Given the description of an element on the screen output the (x, y) to click on. 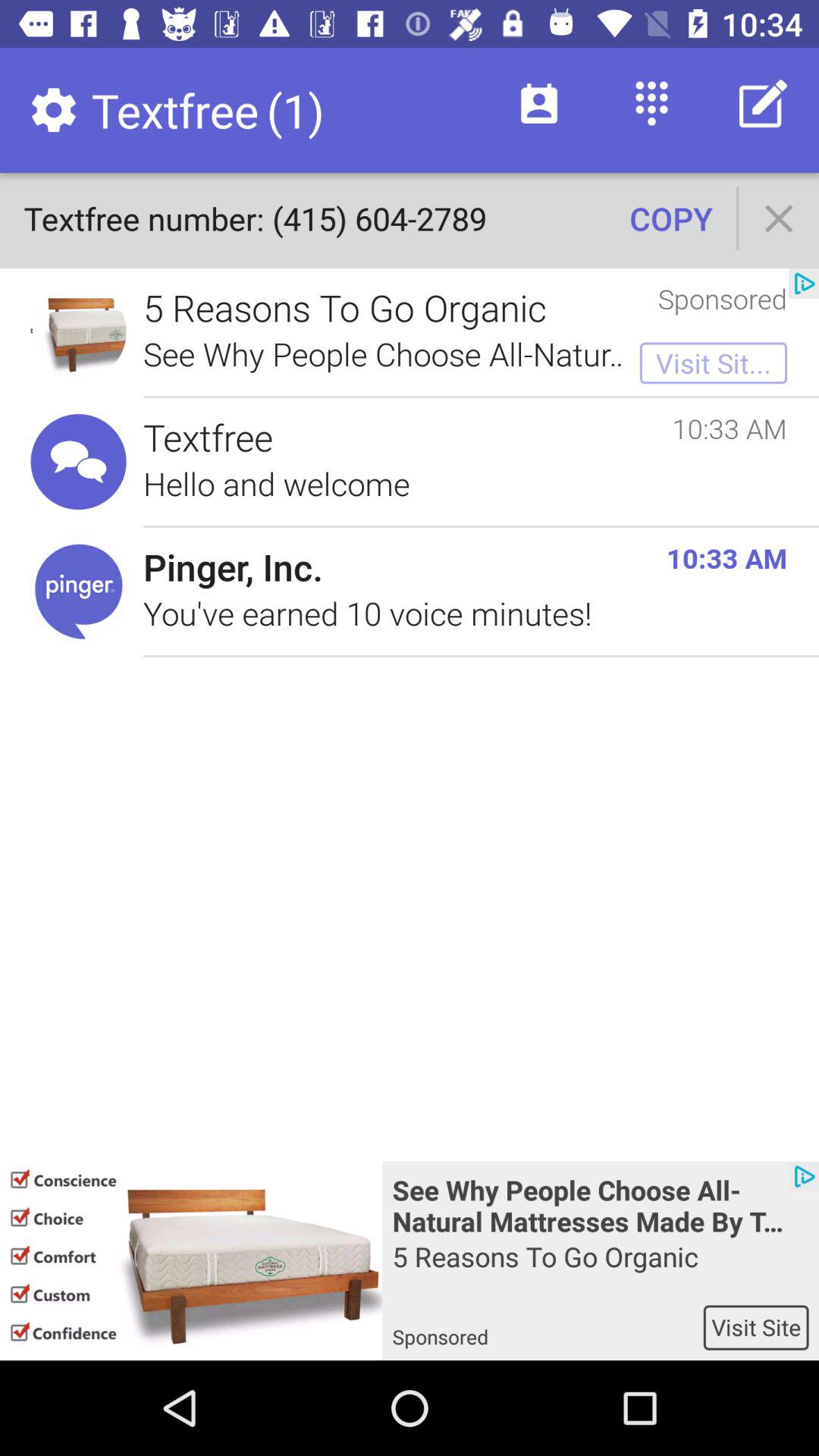
select the copy icon (670, 218)
